Given the description of an element on the screen output the (x, y) to click on. 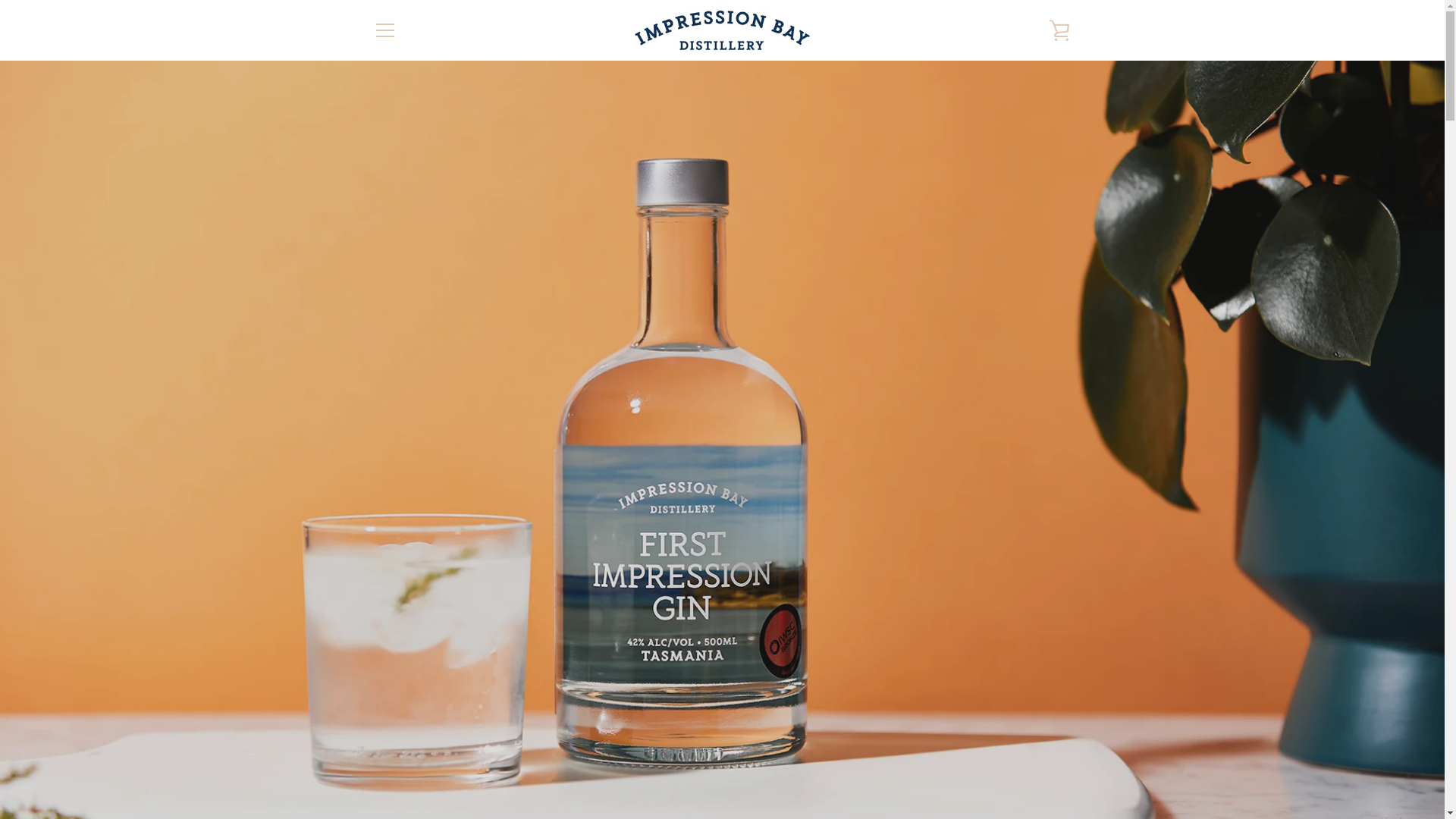
SEARCH Element type: text (393, 609)
Skip to content Element type: text (0, 0)
MENU Element type: text (384, 30)
CONTACT US Element type: text (406, 632)
Impression Bay Distillery Element type: text (525, 756)
SUBSCRIBE Element type: text (1031, 679)
VIEW CART Element type: text (1059, 30)
Powered by Shopify Element type: text (483, 776)
